Given the description of an element on the screen output the (x, y) to click on. 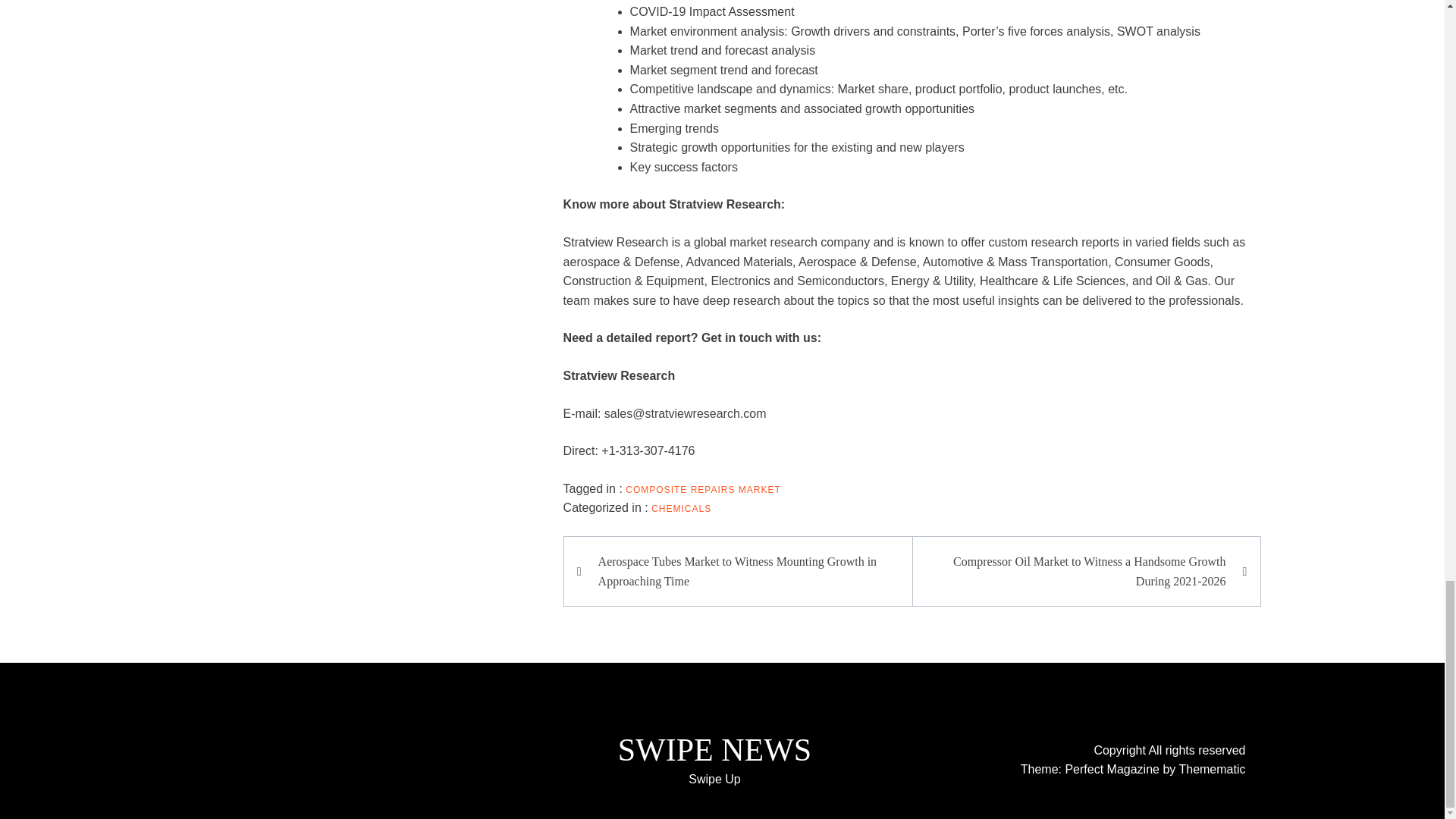
CHEMICALS (680, 508)
Themematic (1210, 768)
COMPOSITE REPAIRS MARKET (703, 489)
SWIPE NEWS (714, 749)
